Given the description of an element on the screen output the (x, y) to click on. 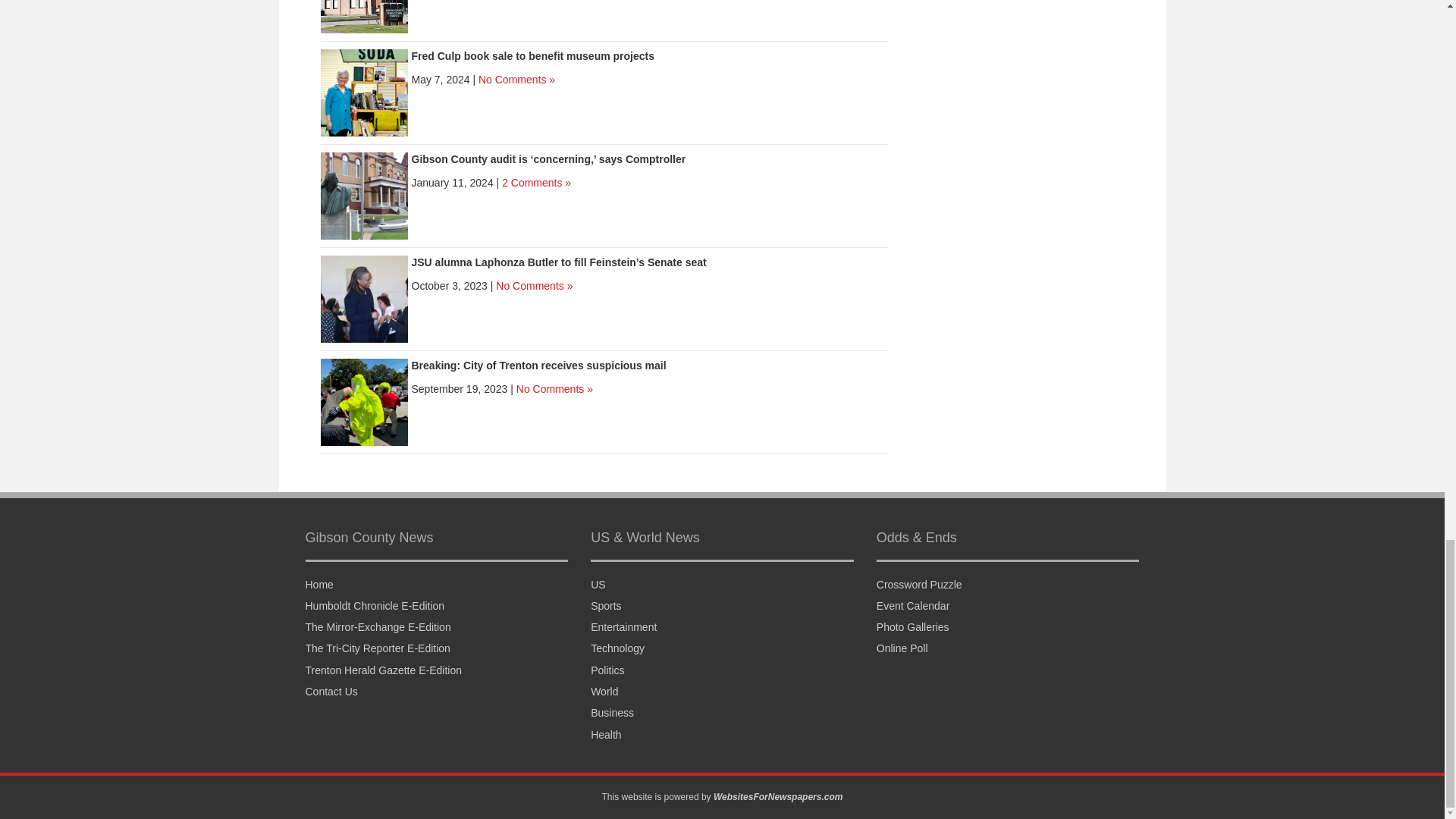
Fred Culp book sale to benefit museum projects (531, 55)
Fred Culp book sale to benefit museum projects (363, 92)
